Given the description of an element on the screen output the (x, y) to click on. 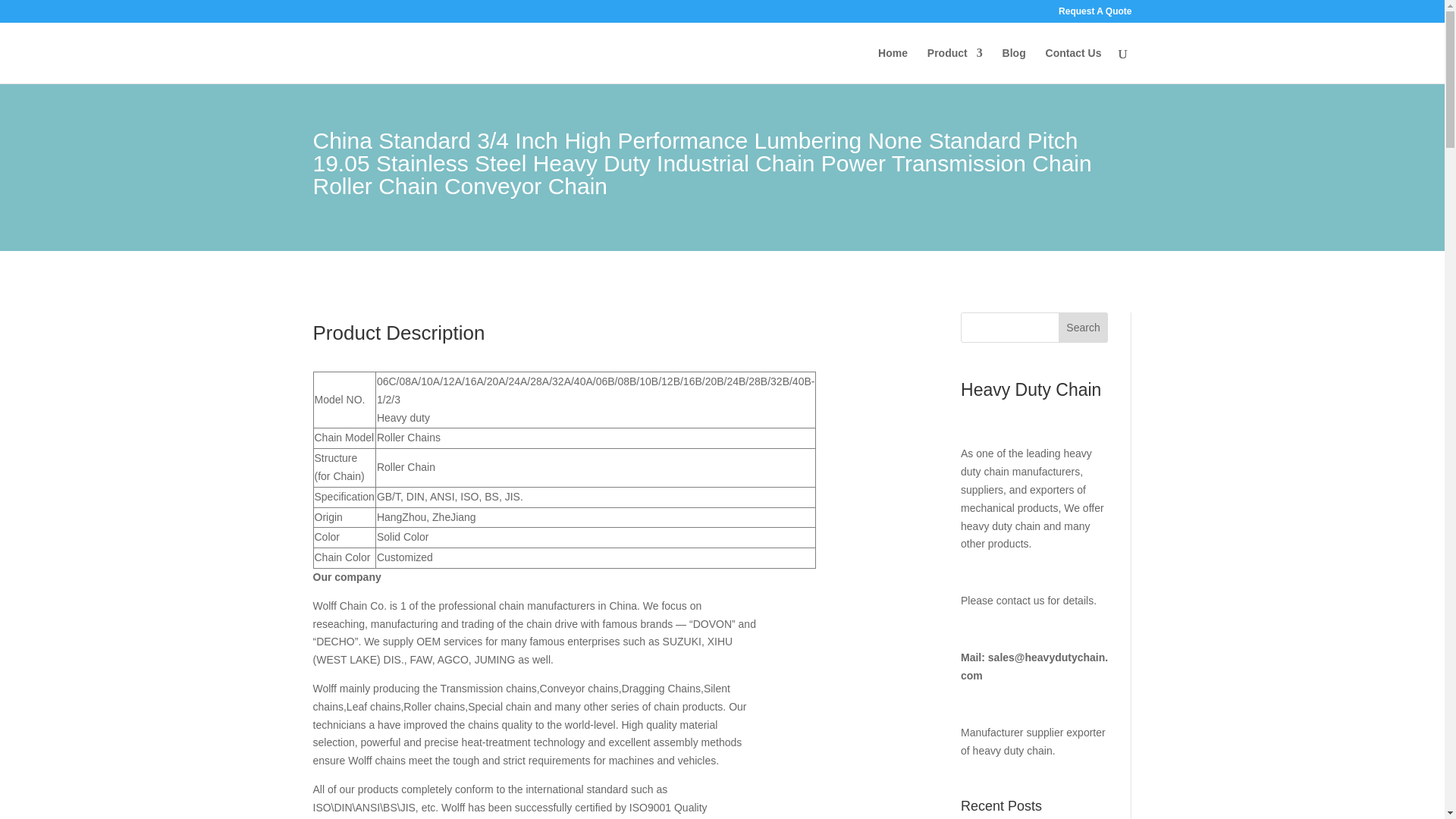
Search (1083, 327)
Product (954, 65)
Contact Us (1073, 65)
Request A Quote (1094, 14)
